Given the description of an element on the screen output the (x, y) to click on. 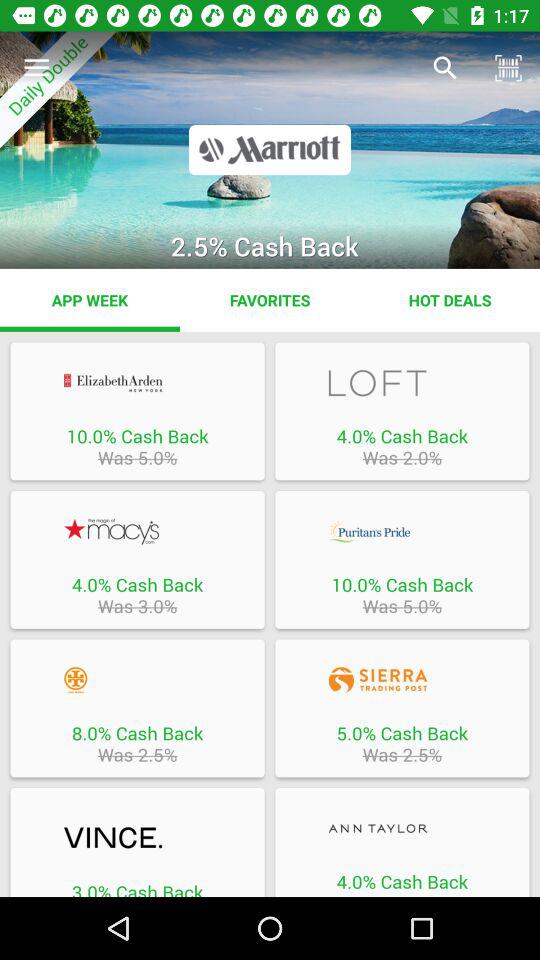
shop at macy 's (137, 531)
